Given the description of an element on the screen output the (x, y) to click on. 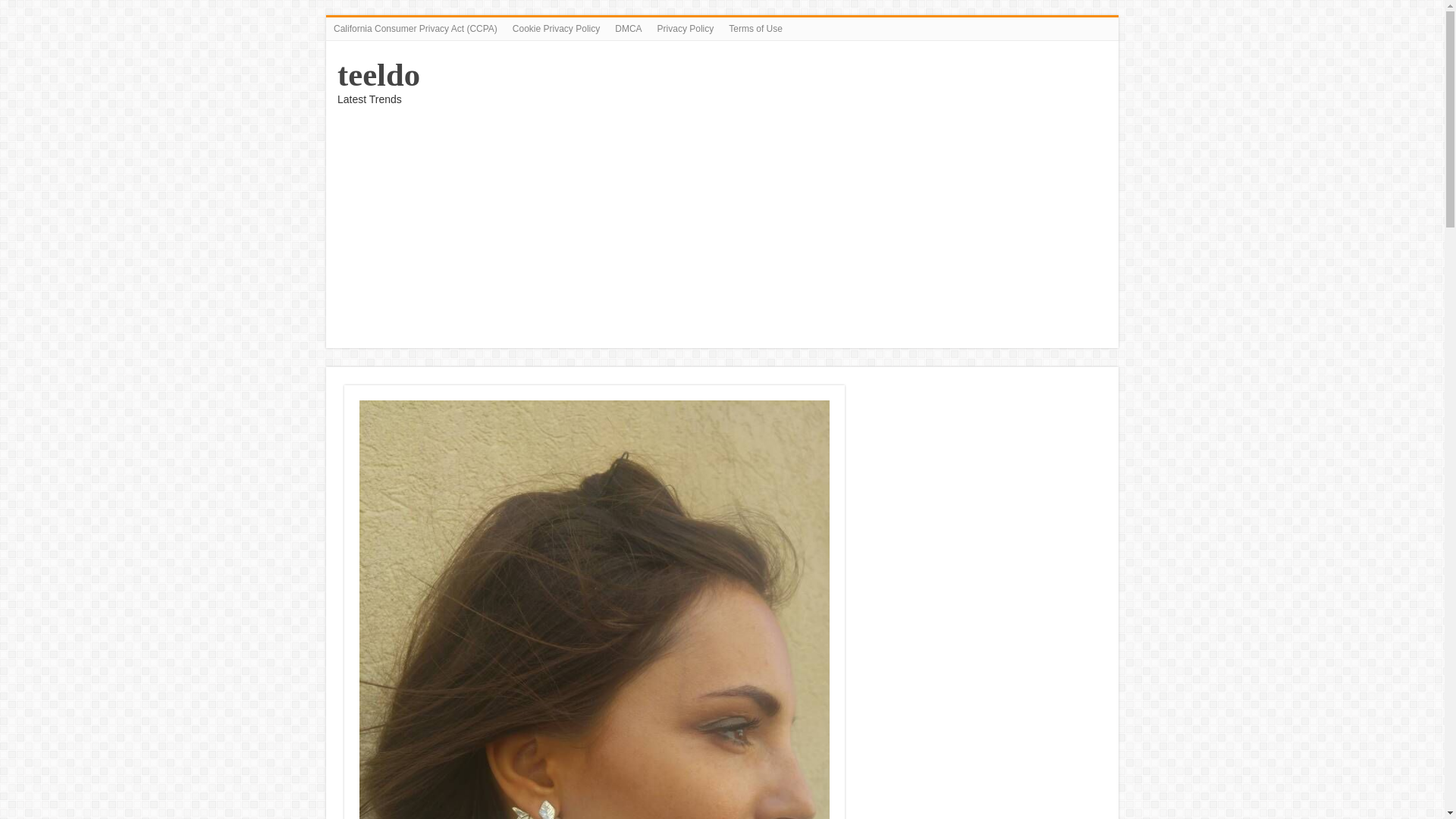
teeldo (378, 74)
DMCA (628, 28)
Privacy Policy (685, 28)
Cookie Privacy Policy (556, 28)
Terms of Use (755, 28)
